Given the description of an element on the screen output the (x, y) to click on. 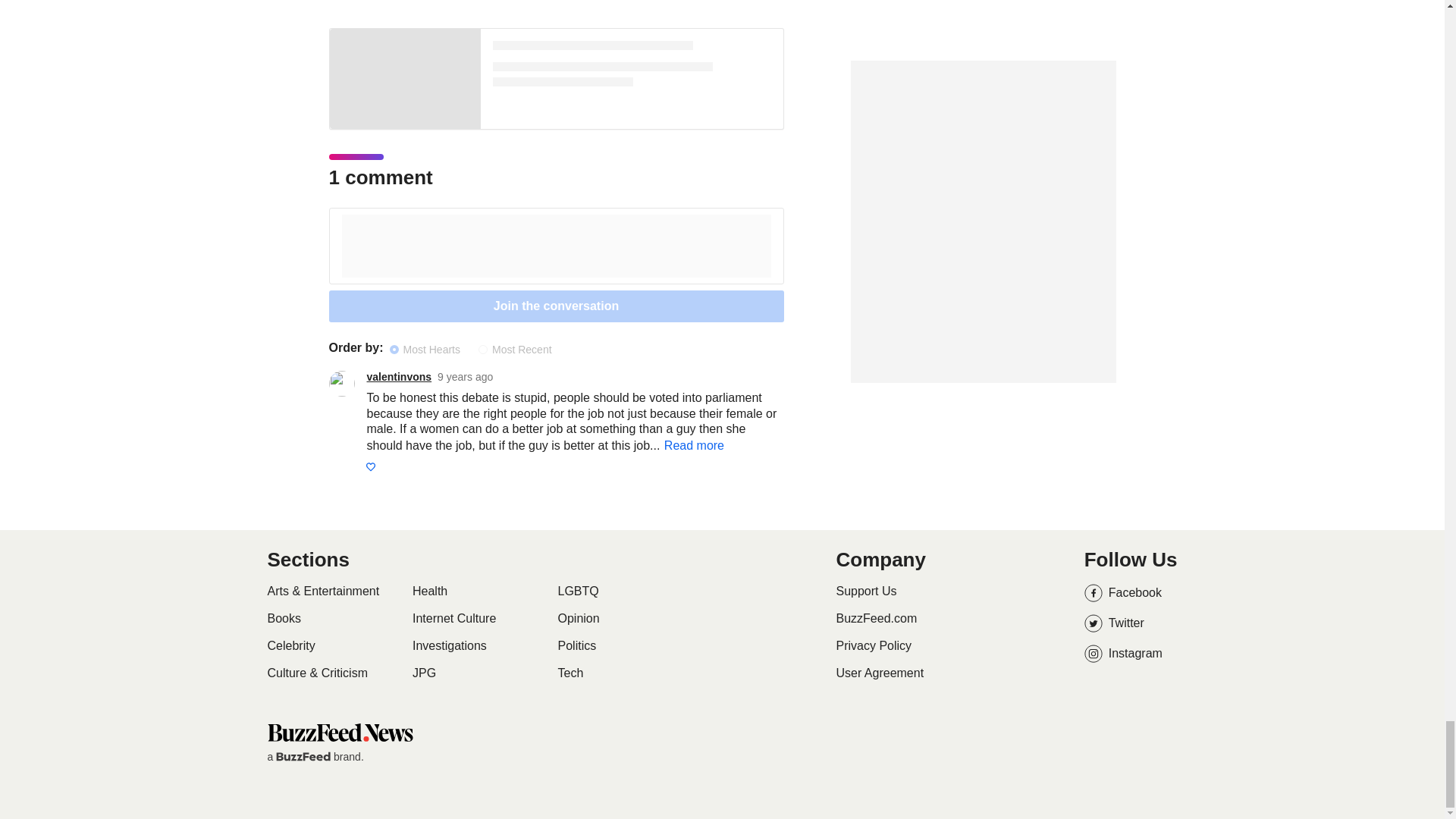
Join the conversation (556, 306)
Heart (369, 466)
